Given the description of an element on the screen output the (x, y) to click on. 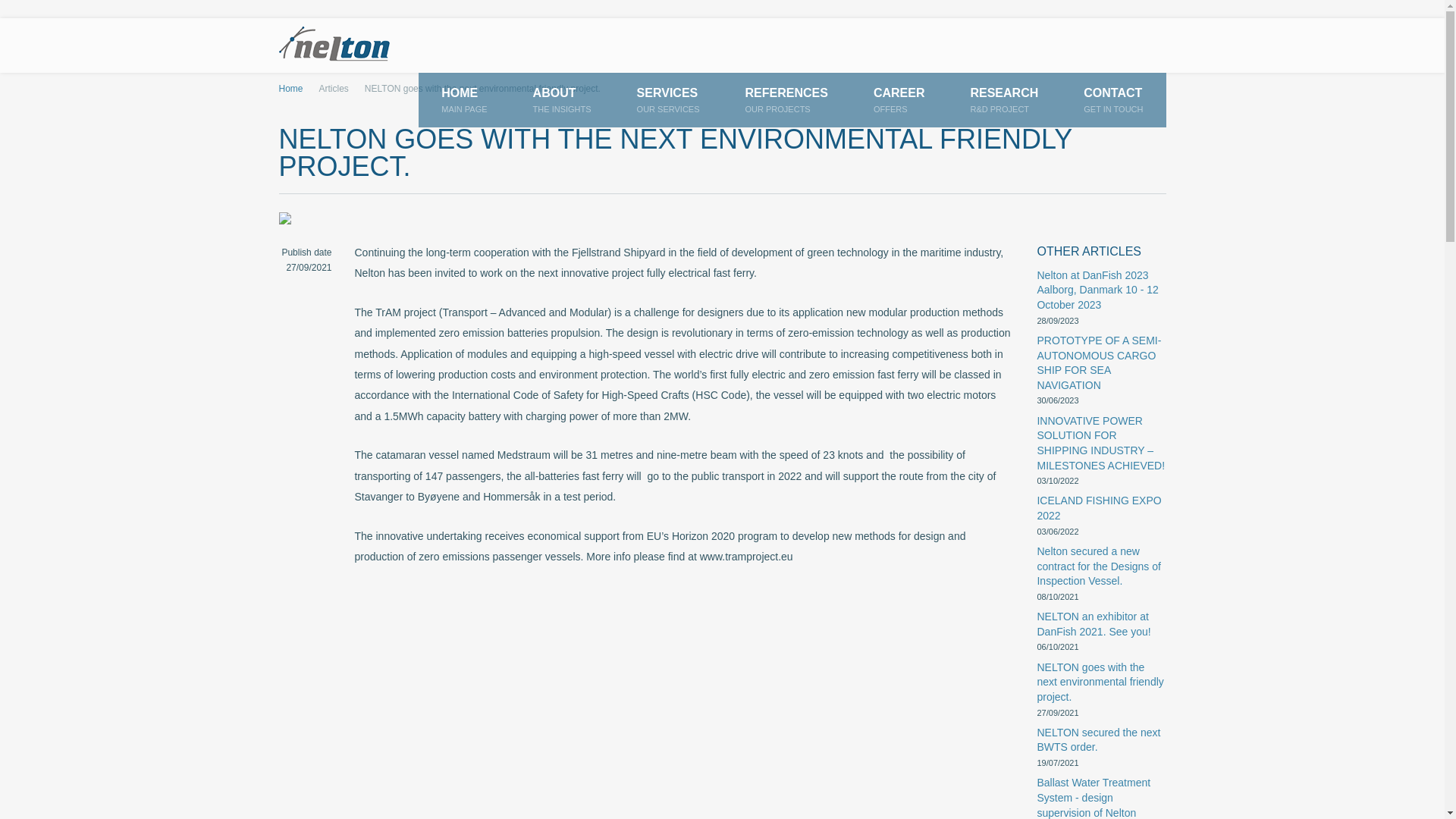
read full article (1101, 290)
NELTON goes with the next environmental friendly project. (1113, 99)
Research (1101, 682)
Nelton (668, 99)
PROTOTYPE OF A SEMI-AUTONOMOUS CARGO SHIP FOR SEA NAVIGATION (1004, 99)
Contact (343, 45)
ICELAND FISHING EXPO 2022 (464, 99)
Services (1101, 363)
Home (1113, 99)
Nelton at DanFish 2023 Aalborg, Danmark 10 - 12 October 2023 (1101, 508)
